Given the description of an element on the screen output the (x, y) to click on. 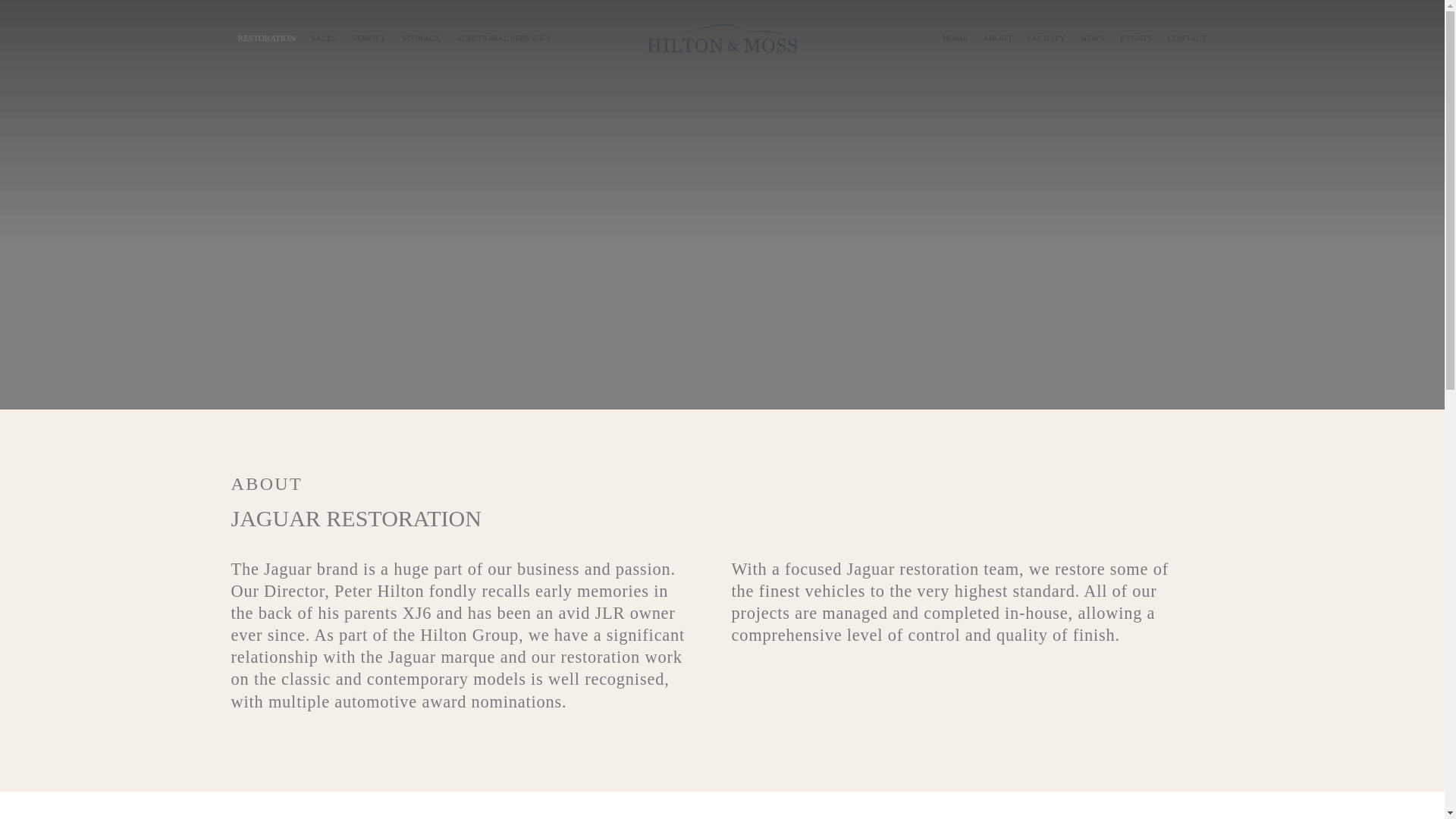
RESTORATION (265, 38)
ADDITIONAL SERVICES (502, 38)
